Given the description of an element on the screen output the (x, y) to click on. 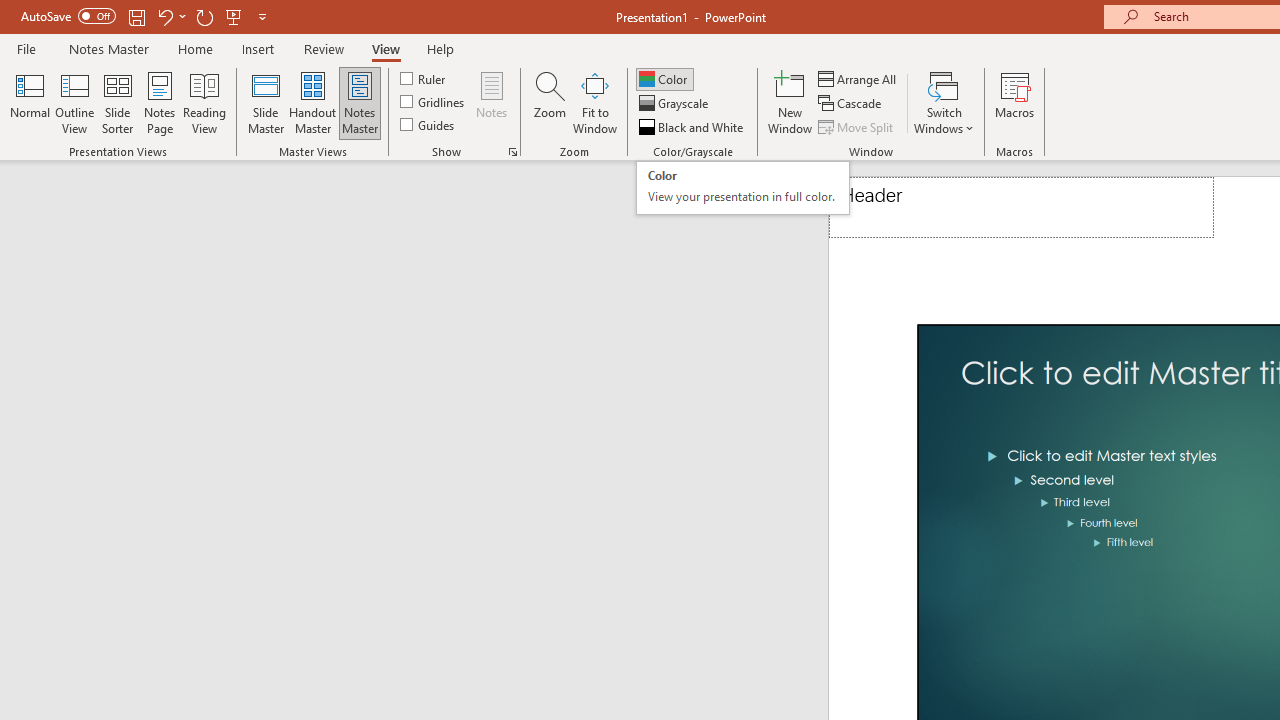
Color (664, 78)
Notes Master (108, 48)
Switch Windows (943, 102)
Macros (1014, 102)
Grid Settings... (512, 151)
Gridlines (433, 101)
Header (1021, 207)
New Window (790, 102)
Notes (492, 102)
Slide Master (265, 102)
